Given the description of an element on the screen output the (x, y) to click on. 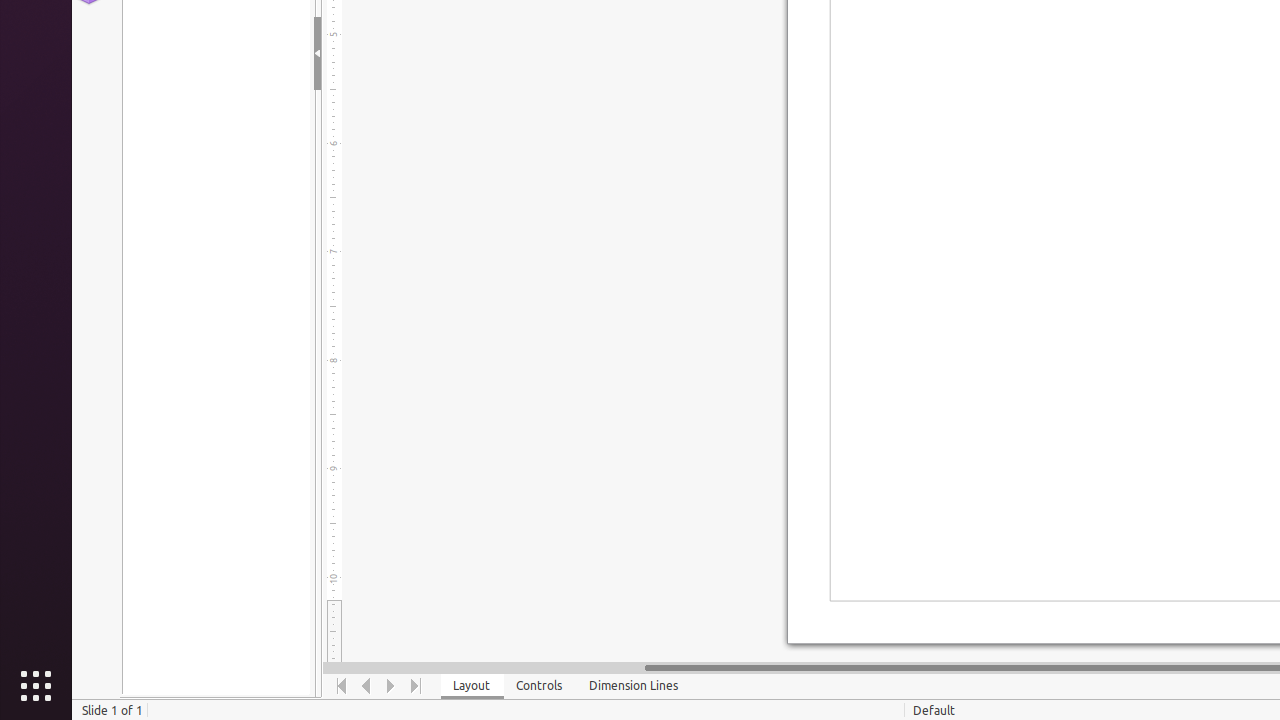
Show Applications Element type: toggle-button (36, 686)
Move To End Element type: push-button (416, 686)
Move Left Element type: push-button (366, 686)
Move To Home Element type: push-button (341, 686)
Layout Element type: page-tab (472, 686)
